Given the description of an element on the screen output the (x, y) to click on. 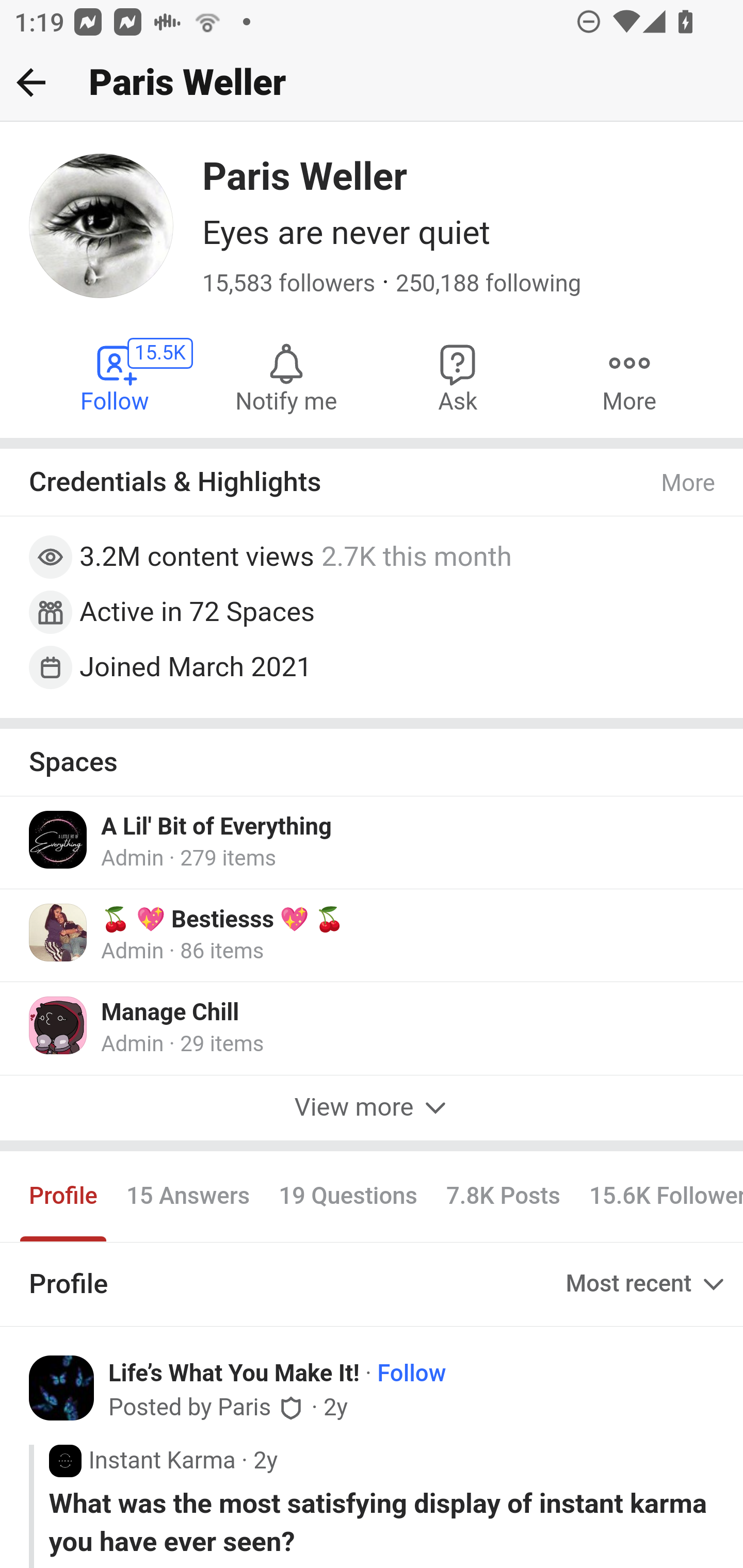
Back (30, 82)
15,583 followers (289, 284)
250,188 following (487, 284)
Follow Paris Weller 15.5K Follow (115, 376)
Notify me (285, 376)
Ask (458, 376)
More (628, 376)
More (688, 482)
Icon for A Lil' Bit of Everything (58, 838)
A Lil' Bit of Everything (217, 827)
Icon for 🍒 💖 Bestiesss 💖 🍒 (58, 932)
🍒 💖 Bestiesss 💖 🍒 (222, 920)
Icon for Manage Chill (58, 1025)
Manage Chill (170, 1013)
View more (371, 1108)
Profile (63, 1195)
15 Answers (187, 1195)
19 Questions (348, 1195)
7.8K Posts (502, 1195)
15.6K Followers (658, 1195)
Most recent (647, 1284)
Icon for Life’s What You Make It! (68, 1392)
Life’s What You Make It! (234, 1372)
Follow (411, 1373)
Icon for Instant Karma (64, 1460)
